Given the description of an element on the screen output the (x, y) to click on. 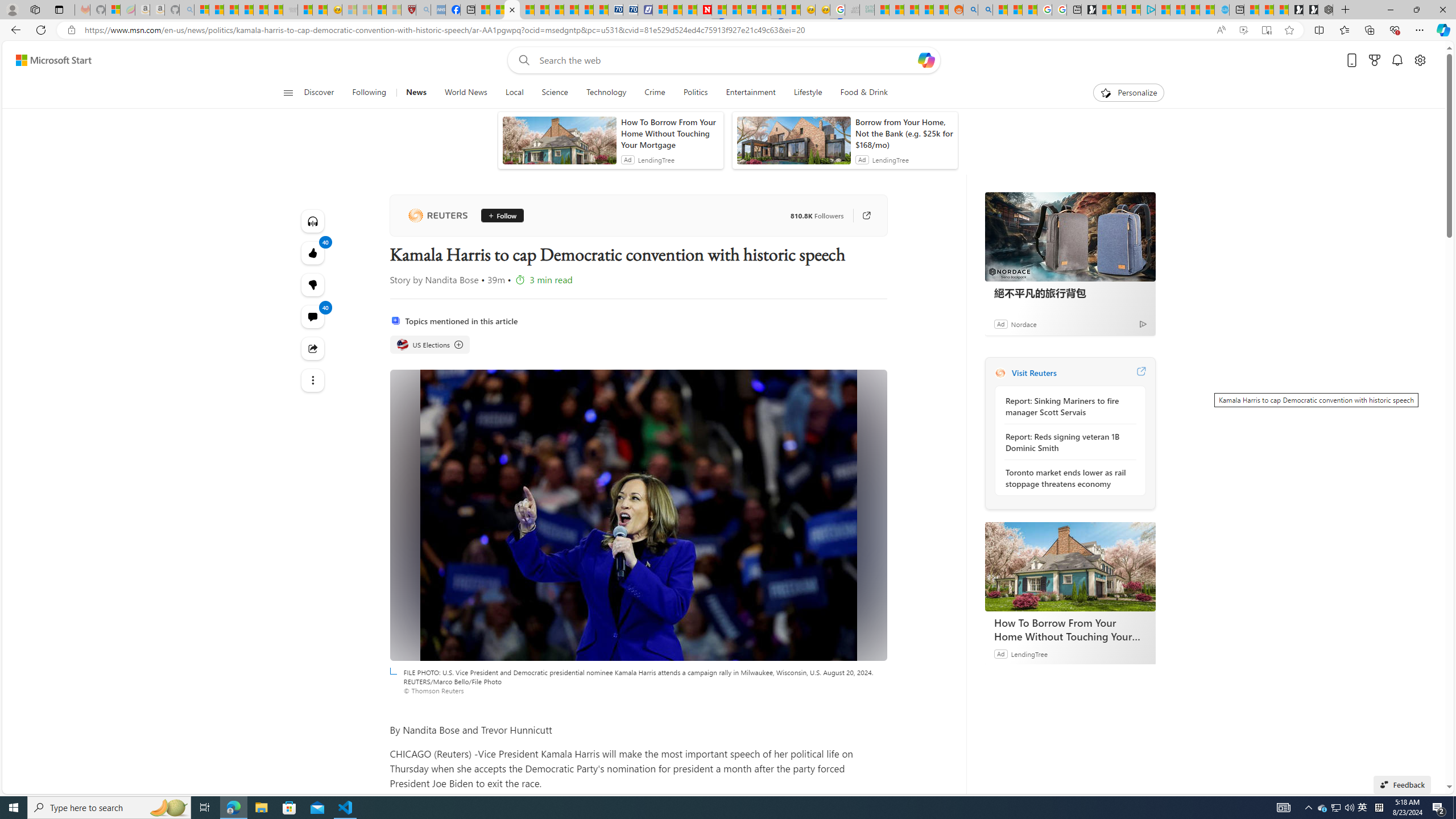
Food & Drink (864, 92)
Skip to footer (46, 59)
40 (312, 284)
Enhance video (1243, 29)
Student Loan Update: Forgiveness Program Ends This Month (926, 9)
Newsweek - News, Analysis, Politics, Business, Technology (703, 9)
Crime (654, 92)
